Given the description of an element on the screen output the (x, y) to click on. 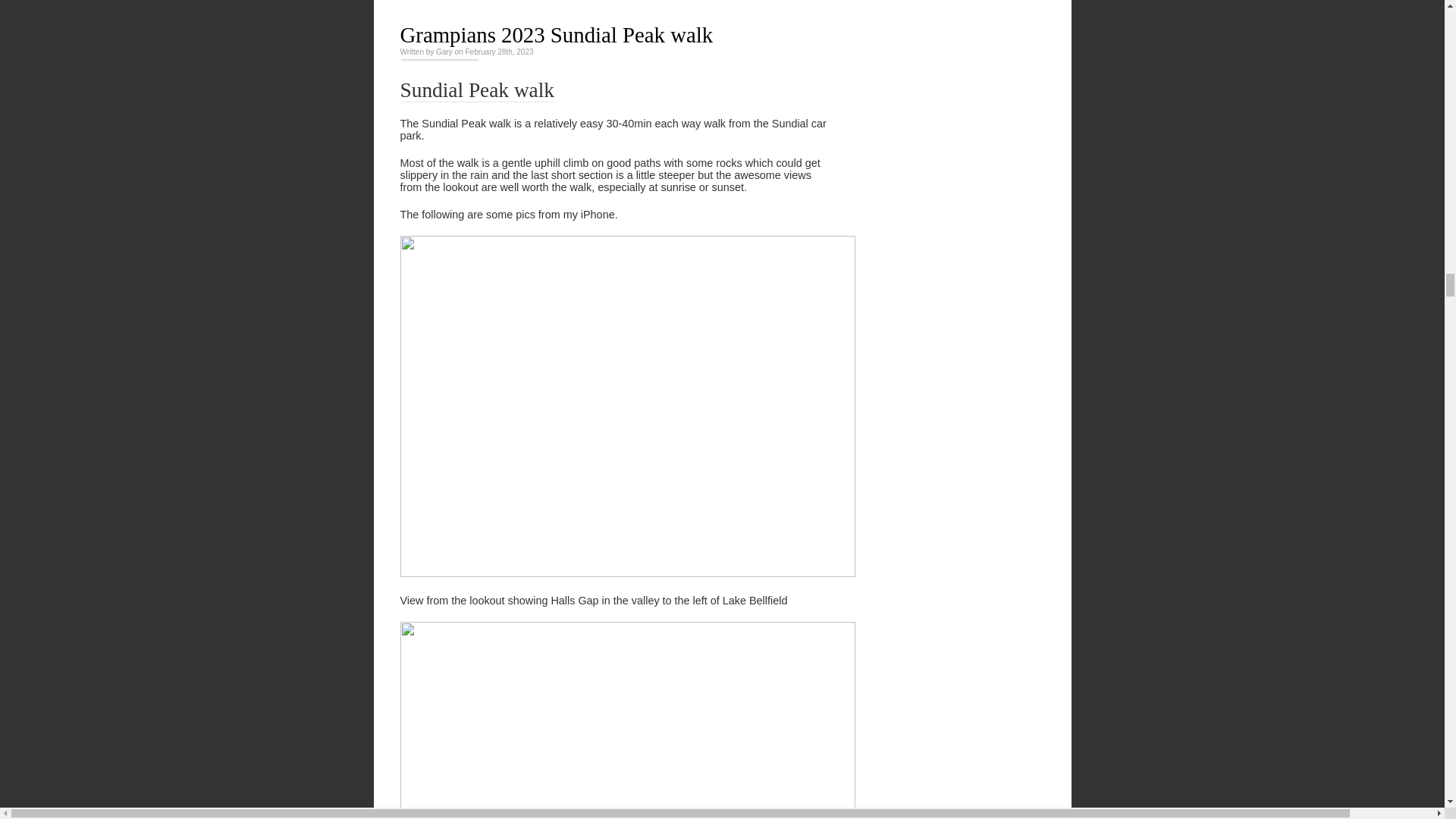
Permanent Link to Grampians 2023 Sundial Peak walk (556, 34)
